Given the description of an element on the screen output the (x, y) to click on. 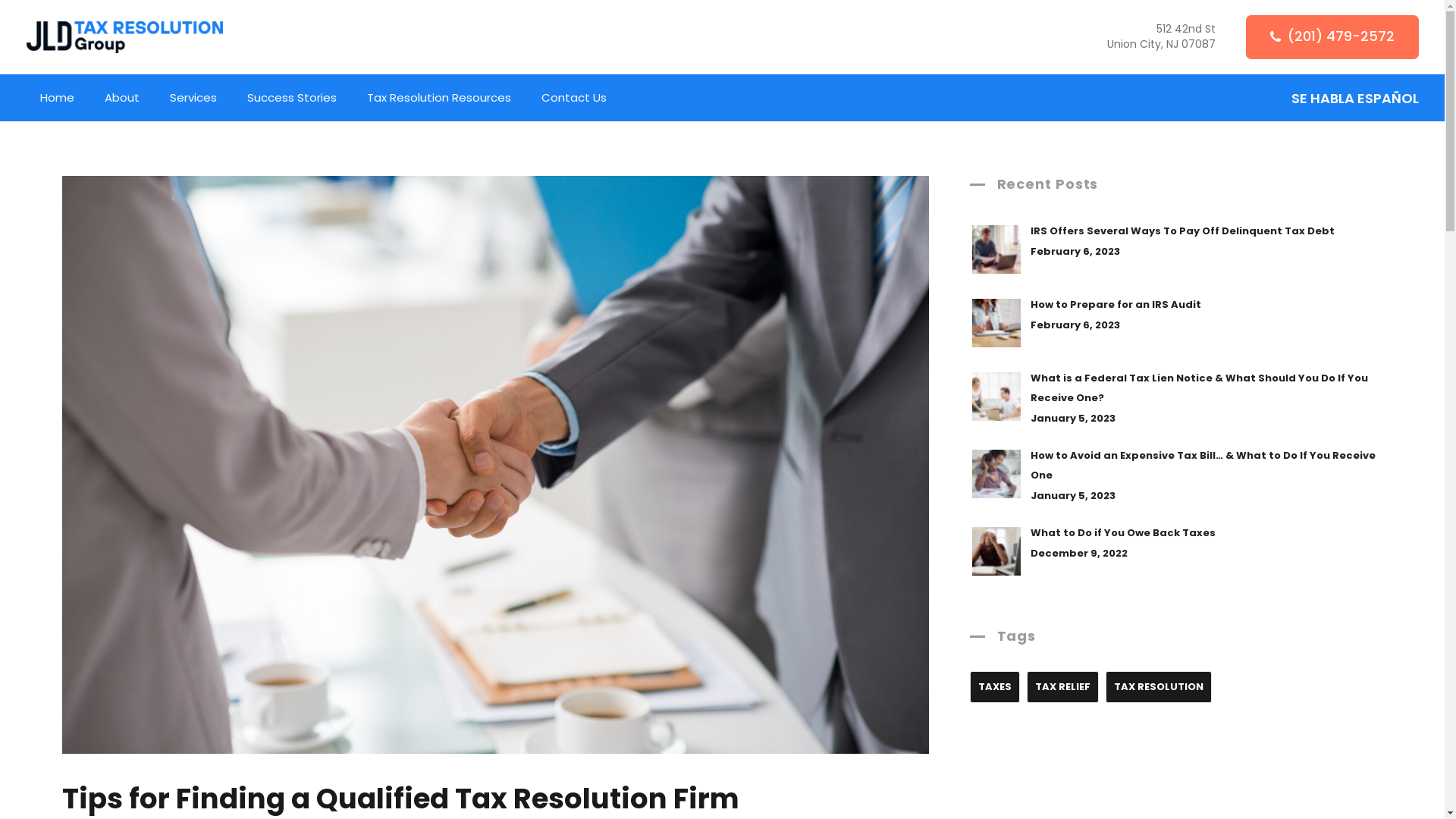
What to Do if You Owe Back Taxes Element type: text (1122, 532)
Contact Us Element type: text (573, 97)
(201) 479-2572 Element type: text (1331, 37)
Tax Resolution Resources Element type: text (438, 97)
TAX RESOLUTION Element type: text (1158, 686)
IRS Offers Several Ways To Pay Off Delinquent Tax Debt Element type: text (1182, 230)
TAX RELIEF Element type: text (1062, 686)
Success Stories Element type: text (291, 97)
Home Element type: hover (123, 37)
About Element type: text (122, 97)
TAXES Element type: text (994, 686)
Services Element type: text (193, 97)
How to Prepare for an IRS Audit Element type: text (1115, 304)
Home Element type: text (56, 97)
